Given the description of an element on the screen output the (x, y) to click on. 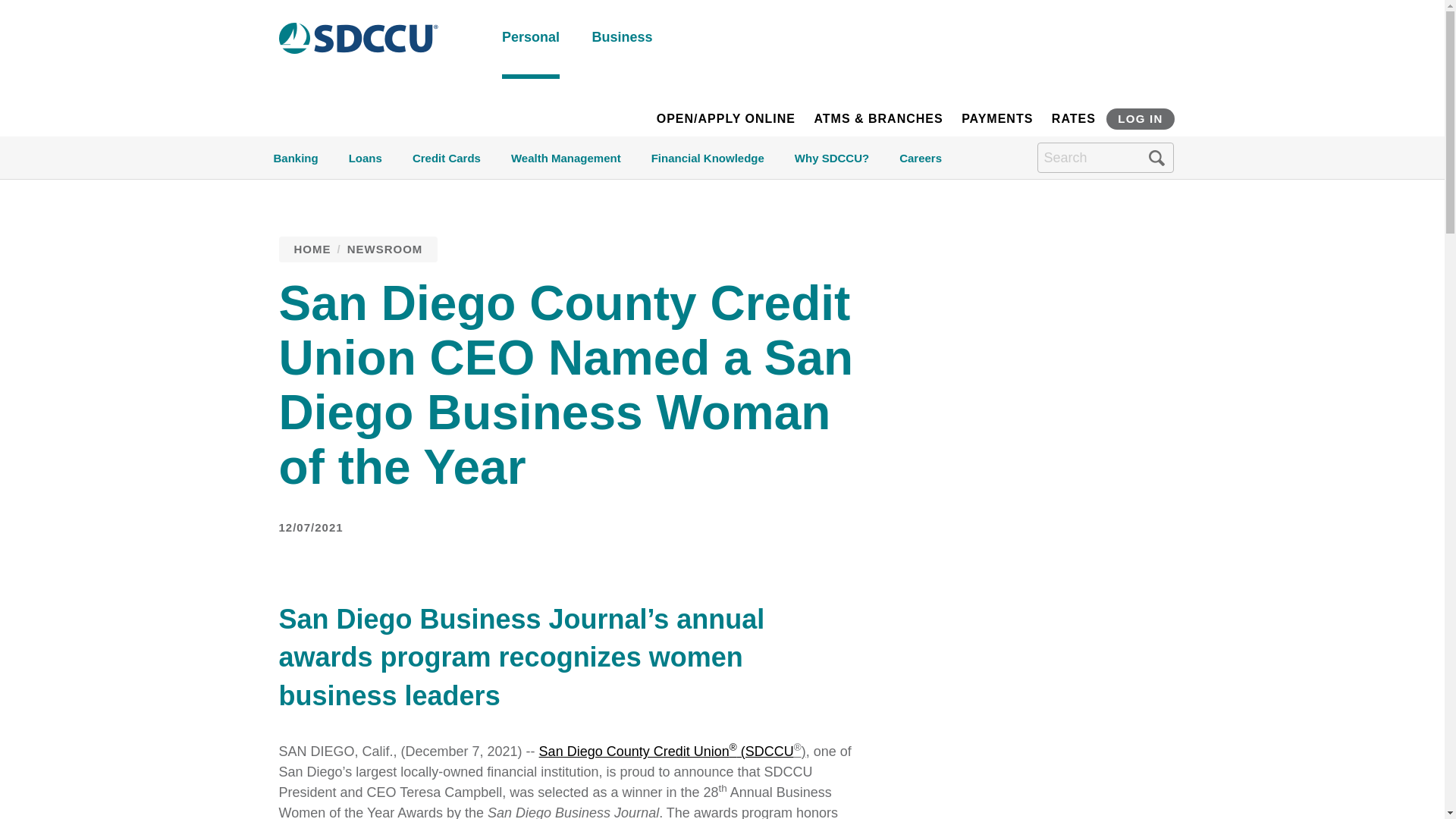
Banking (295, 163)
search (751, 278)
PAYMENTS (997, 118)
LOG IN (1139, 118)
RATES (1073, 118)
Credit Cards (446, 163)
search button (1155, 157)
search-box (1104, 157)
Business (621, 39)
Loans (365, 163)
